Given the description of an element on the screen output the (x, y) to click on. 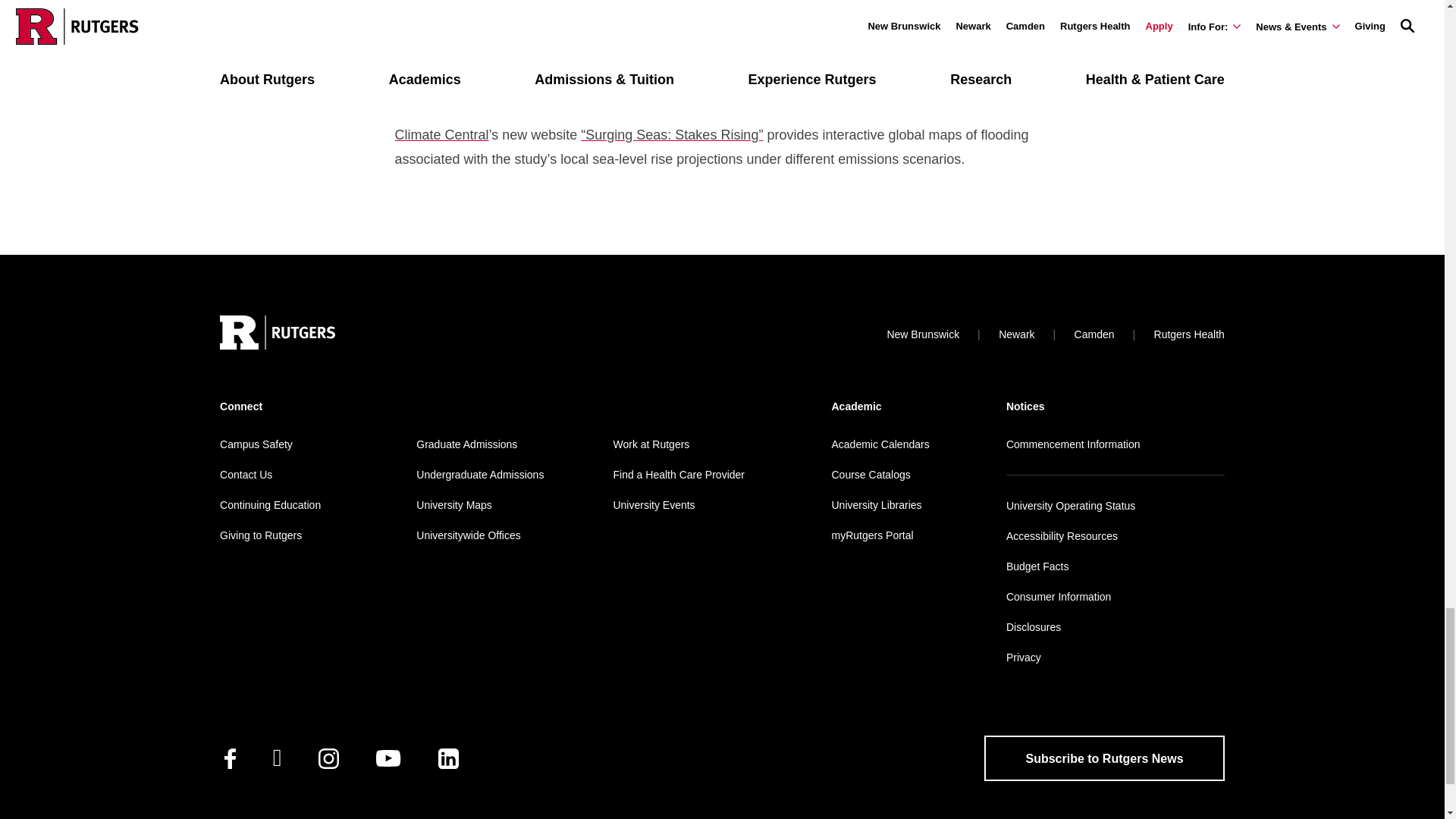
Graduate Admissions (466, 444)
Budget Facts (1037, 566)
Disclosures  (1033, 626)
Campus Safety (255, 444)
Accessibility Resources (1062, 535)
Continuing Education (269, 504)
Academic Calendars (879, 444)
Giving to Rutgers (260, 535)
Course Catalogs (870, 474)
University Operating Status (1070, 505)
myRutgers Portal (871, 535)
Undergraduate Admissions (479, 474)
Consumer Information (1059, 596)
University Maps (454, 504)
Work at Rutgers (650, 444)
